Given the description of an element on the screen output the (x, y) to click on. 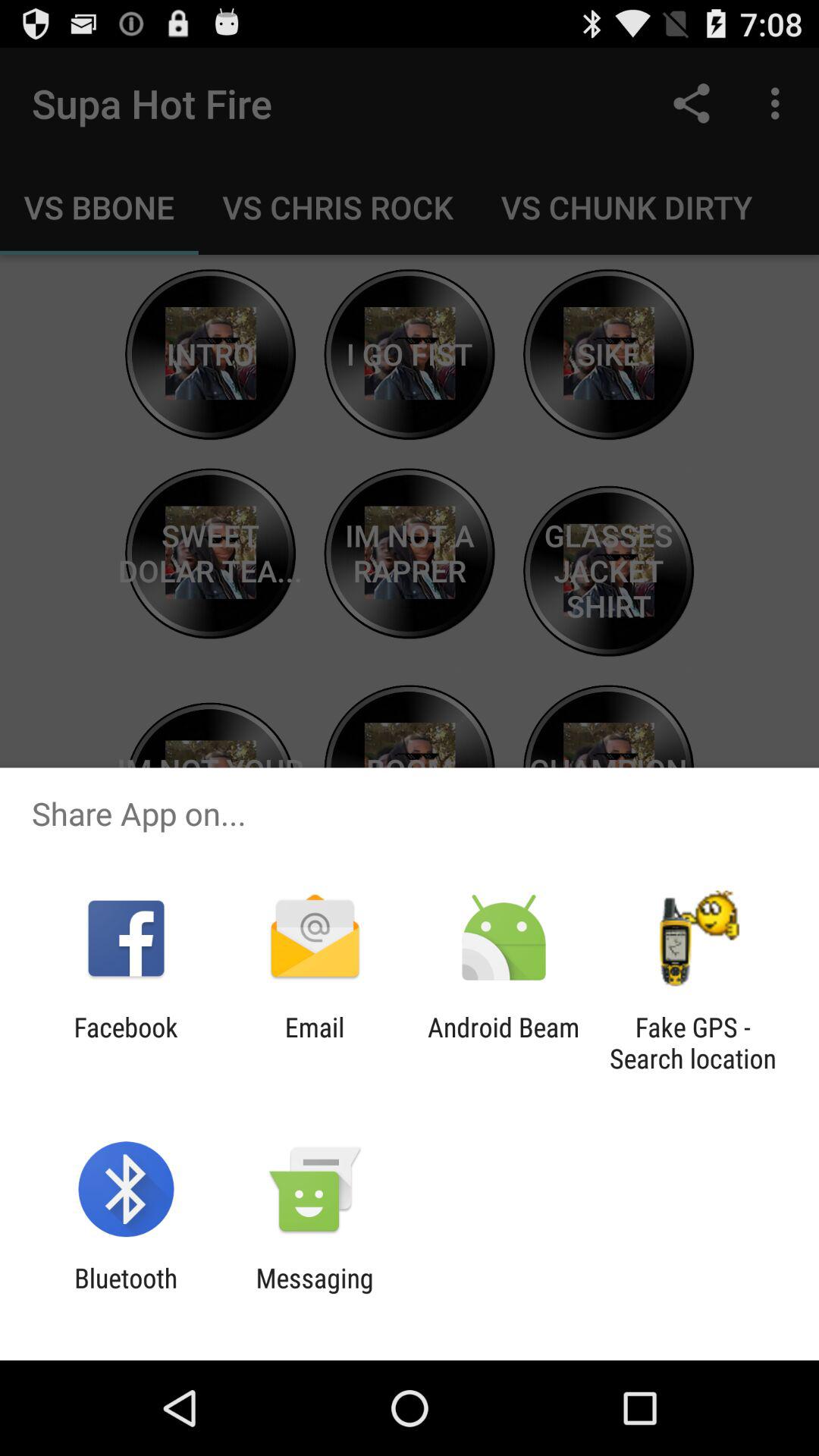
click the icon to the right of the facebook icon (314, 1042)
